Given the description of an element on the screen output the (x, y) to click on. 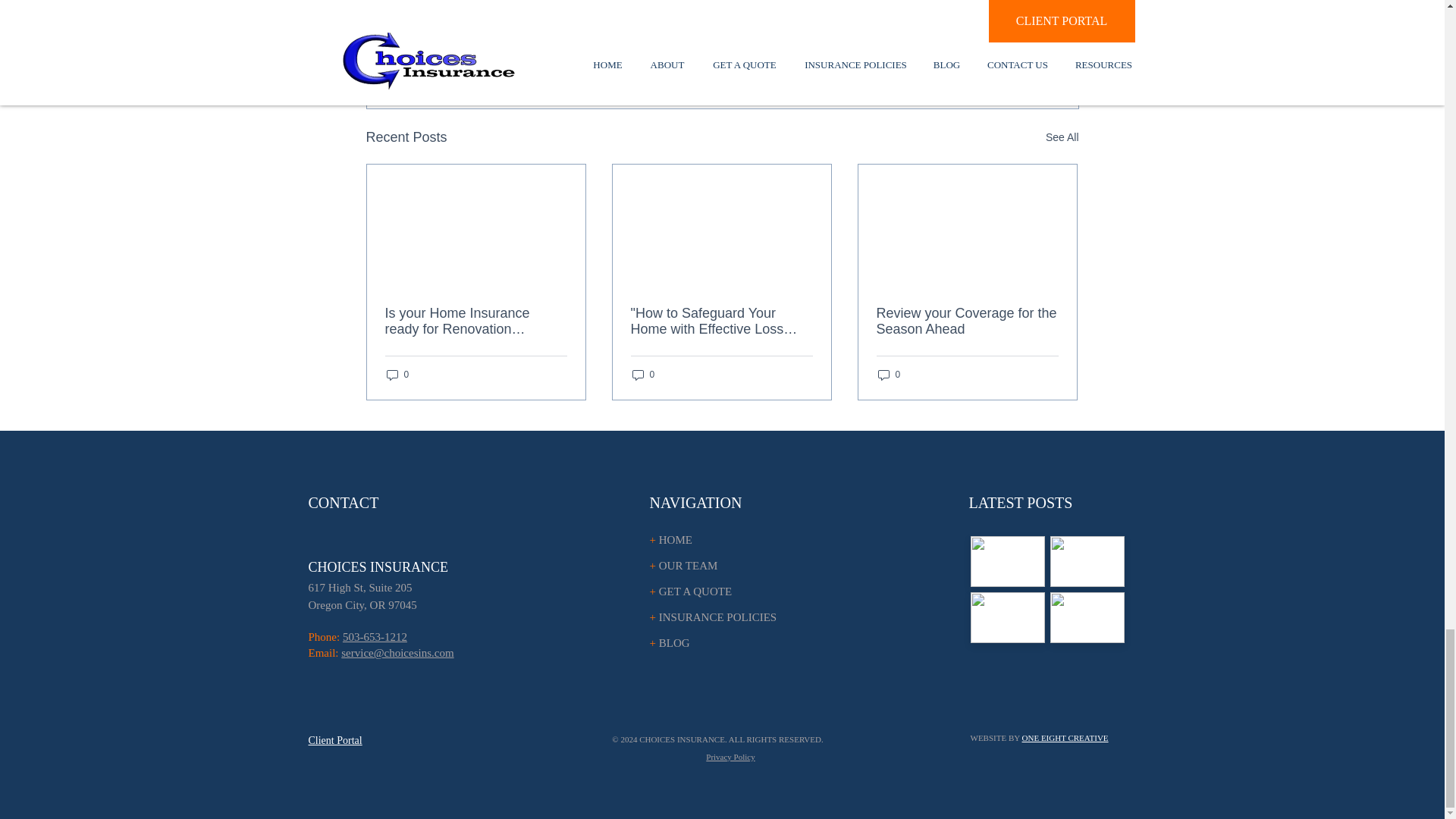
See All (1061, 137)
7 High St, Suite 205 (366, 587)
503-653-1212 (374, 636)
Personal Insurance (957, 39)
0 (643, 373)
Is your Home Insurance ready for Renovation Season? (476, 321)
0 (397, 373)
61 (312, 587)
Review your Coverage for the Season Ahead (967, 321)
0 (889, 373)
